Given the description of an element on the screen output the (x, y) to click on. 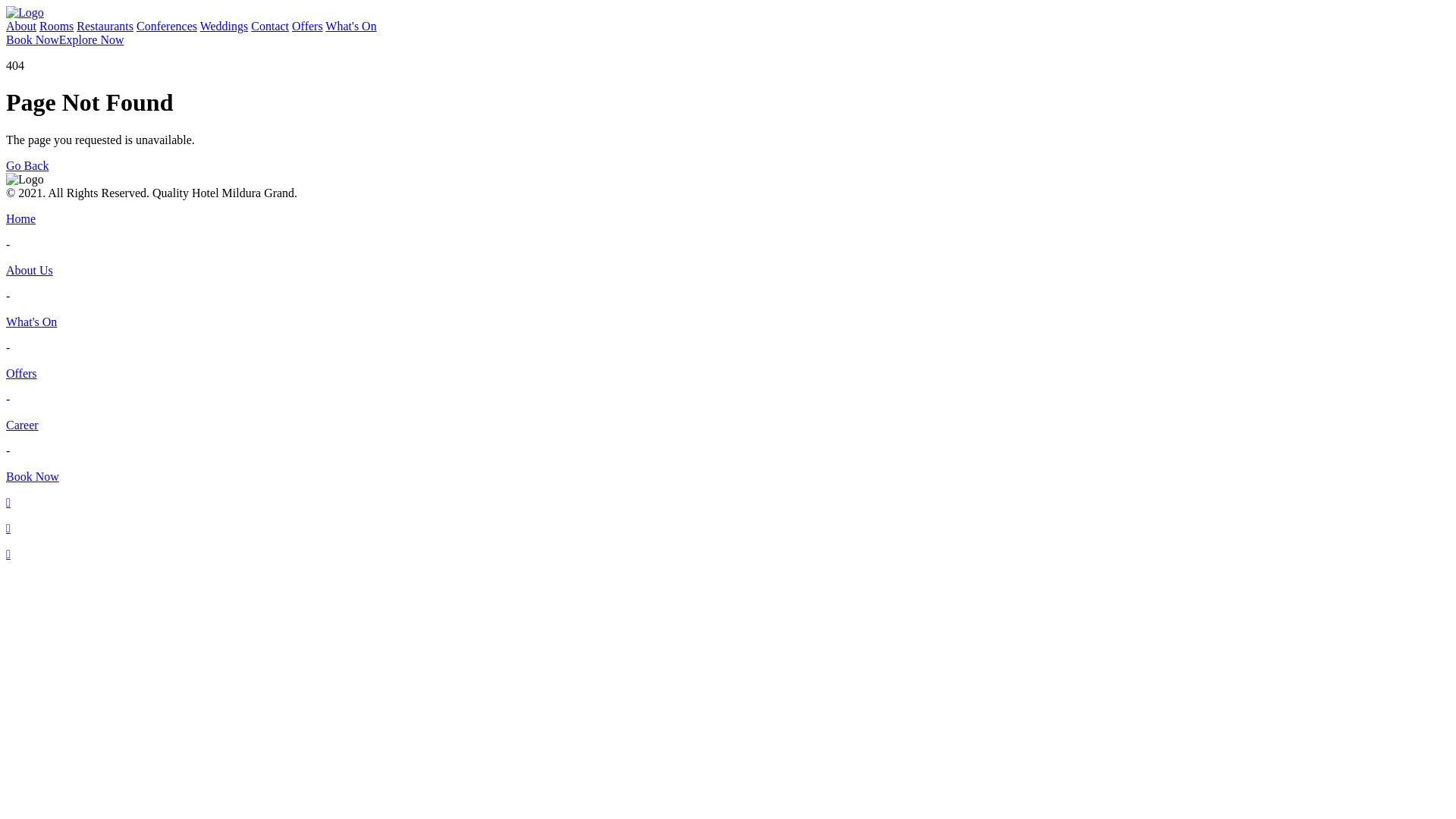
Go Back Element type: text (27, 165)
What's On Element type: text (350, 25)
Rooms Element type: text (56, 25)
Book Now Element type: text (727, 476)
Book Now Element type: text (32, 40)
Explore Now Element type: text (91, 40)
Contact Element type: text (269, 25)
Career Element type: text (727, 425)
About Element type: text (21, 25)
Home Element type: text (727, 218)
Restaurants Element type: text (104, 25)
What's On Element type: text (727, 322)
Offers Element type: text (727, 373)
Conferences Element type: text (166, 25)
Weddings Element type: text (224, 25)
About Us Element type: text (727, 270)
Offers Element type: text (307, 25)
